Given the description of an element on the screen output the (x, y) to click on. 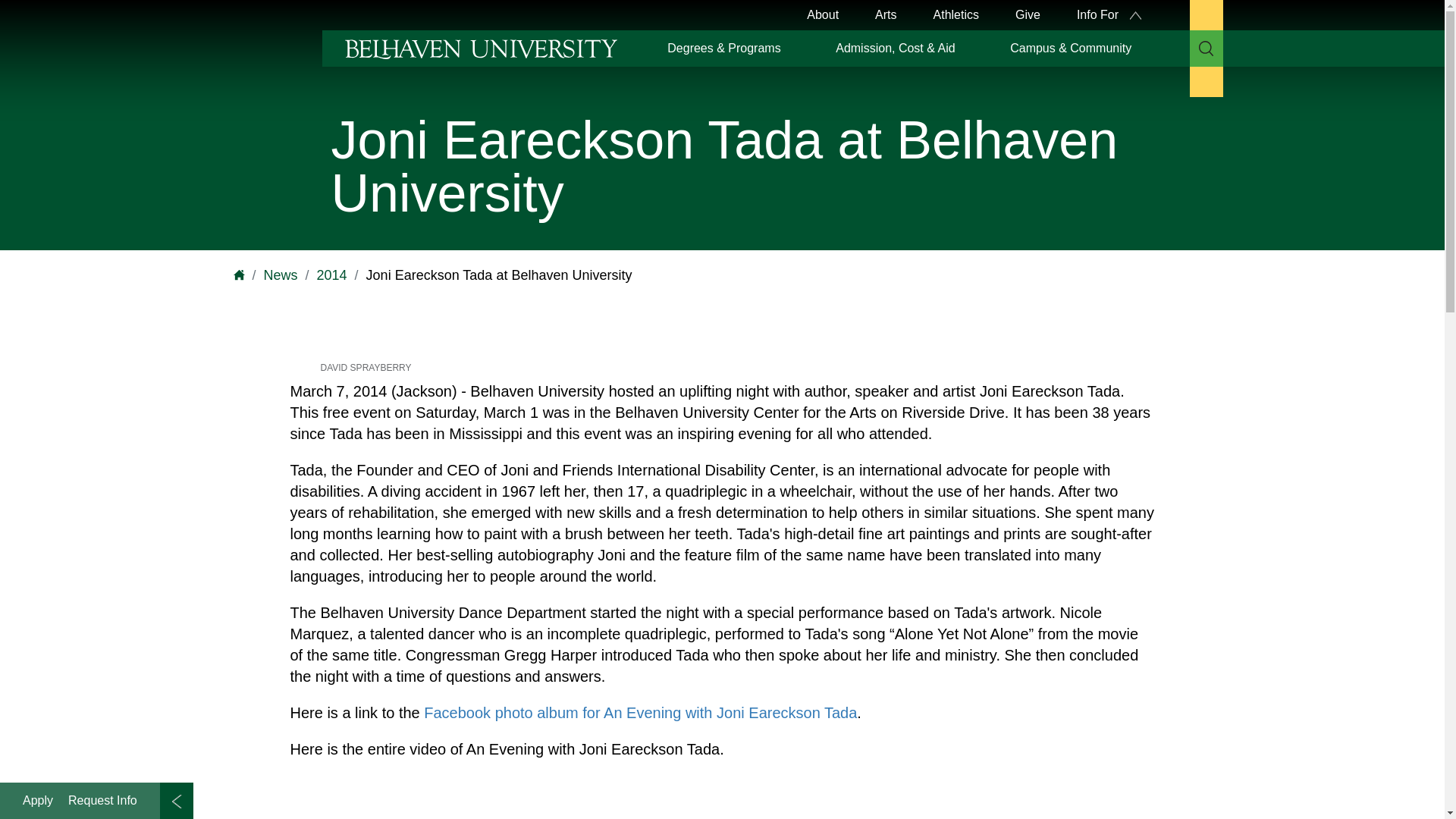
Info For (1108, 15)
Athletics (956, 15)
Arts (885, 15)
Give (1027, 15)
Search Toggle (1206, 48)
About (822, 15)
Joni Eareckson Tada speaks at Belhaven University (501, 796)
